Given the description of an element on the screen output the (x, y) to click on. 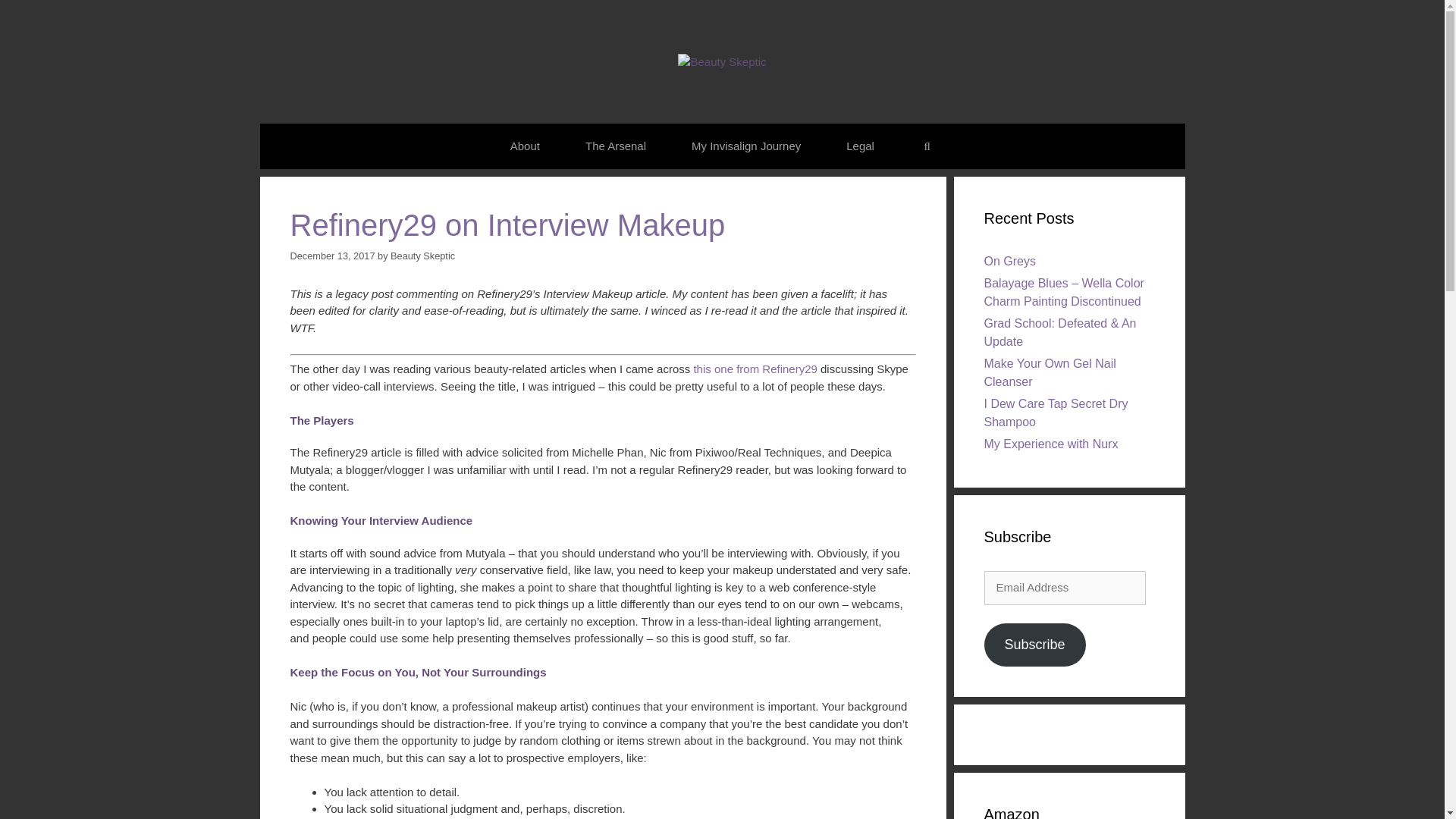
The Arsenal (615, 145)
View all posts by Beauty Skeptic (422, 255)
Subscribe (1035, 644)
Legal (860, 145)
Make Your Own Gel Nail Cleanser (1050, 372)
About (524, 145)
I Dew Care Tap Secret Dry Shampoo (1056, 412)
On Greys (1009, 260)
My Experience with Nurx (1051, 443)
this one from Refinery29 (754, 368)
My Invisalign Journey (746, 145)
Beauty Skeptic (422, 255)
